Given the description of an element on the screen output the (x, y) to click on. 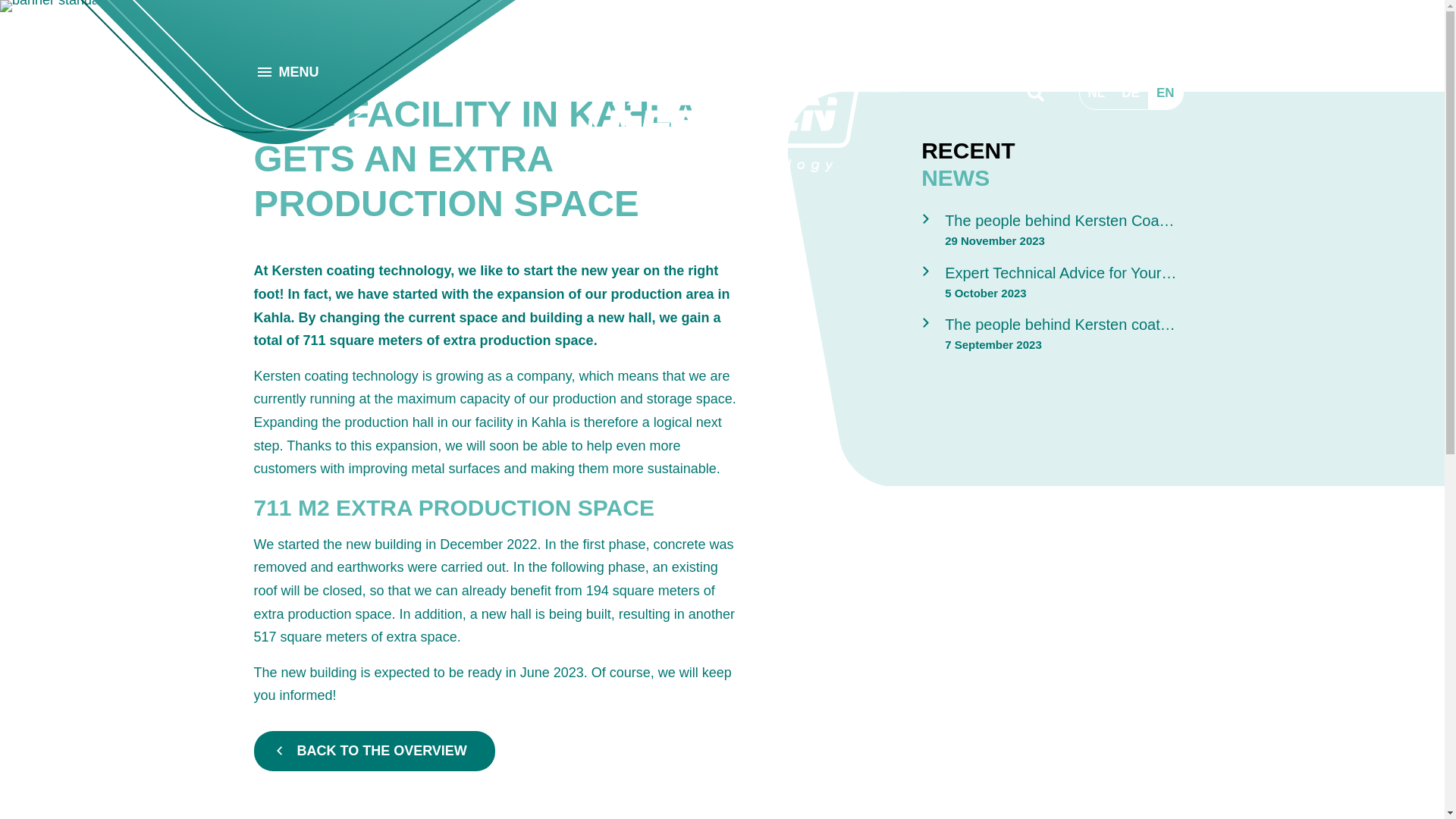
Expert Technical Advice for Your Coating Project (1056, 283)
NL (1096, 92)
The people behind Kersten coating technology: Bjorn Kok (1056, 335)
EN (1165, 92)
DE (1130, 92)
Back to the overview (374, 751)
Kersten Coating Technology (722, 125)
